Given the description of an element on the screen output the (x, y) to click on. 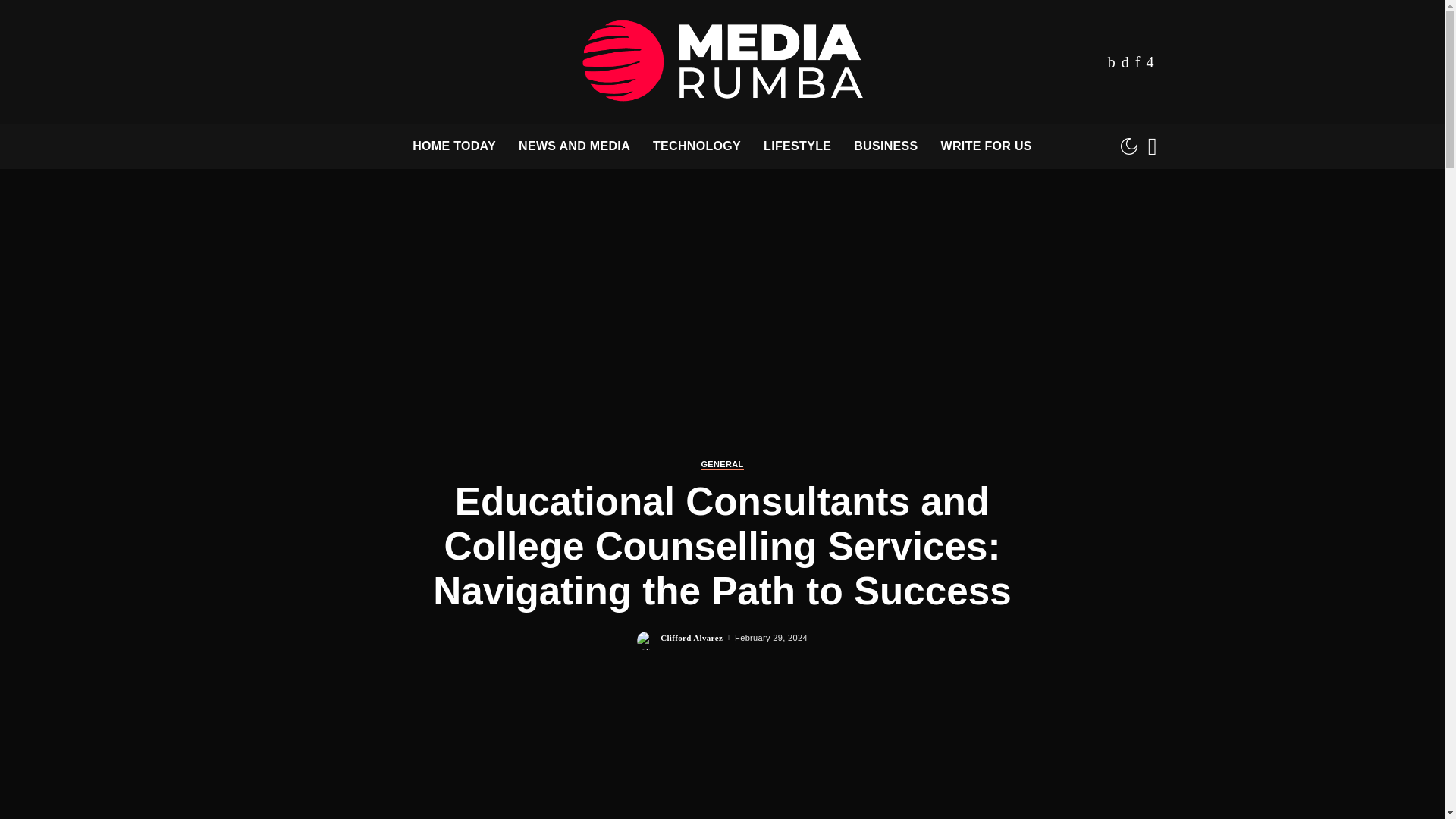
NEWS AND MEDIA (574, 145)
HOME TODAY (453, 145)
WRITE FOR US (986, 145)
Media Rumba (722, 61)
Search (1140, 189)
BUSINESS (885, 145)
TECHNOLOGY (697, 145)
LIFESTYLE (797, 145)
